Given the description of an element on the screen output the (x, y) to click on. 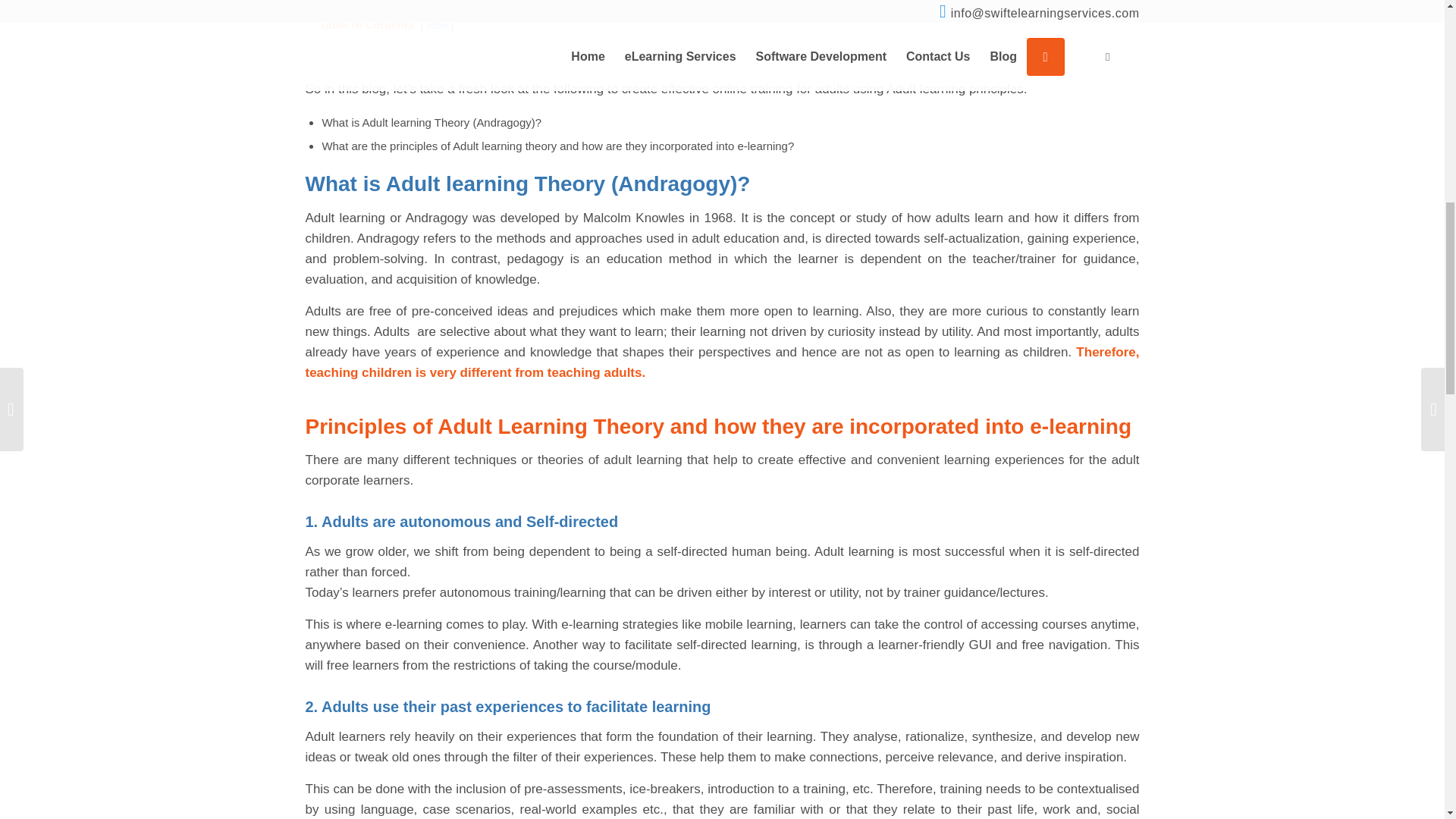
show (436, 25)
